Given the description of an element on the screen output the (x, y) to click on. 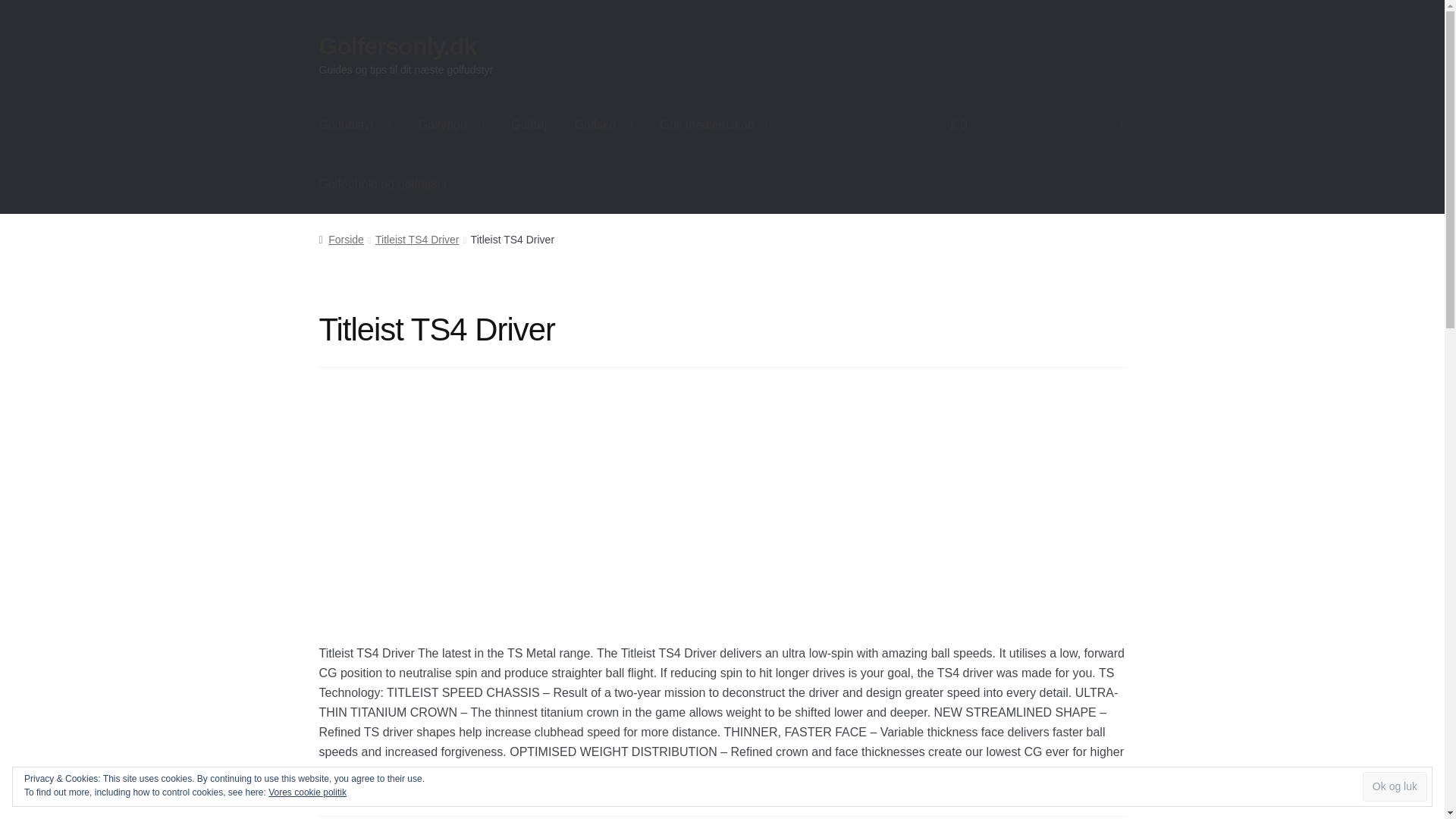
Golfvogn (451, 124)
Golfophold og golfrejser (392, 183)
Golf medlemskab (715, 124)
Vis kurv (1037, 124)
Golfsko (603, 124)
Golfudstyr (355, 124)
Ok og luk (1394, 786)
Golfersonly.dk (397, 45)
